Given the description of an element on the screen output the (x, y) to click on. 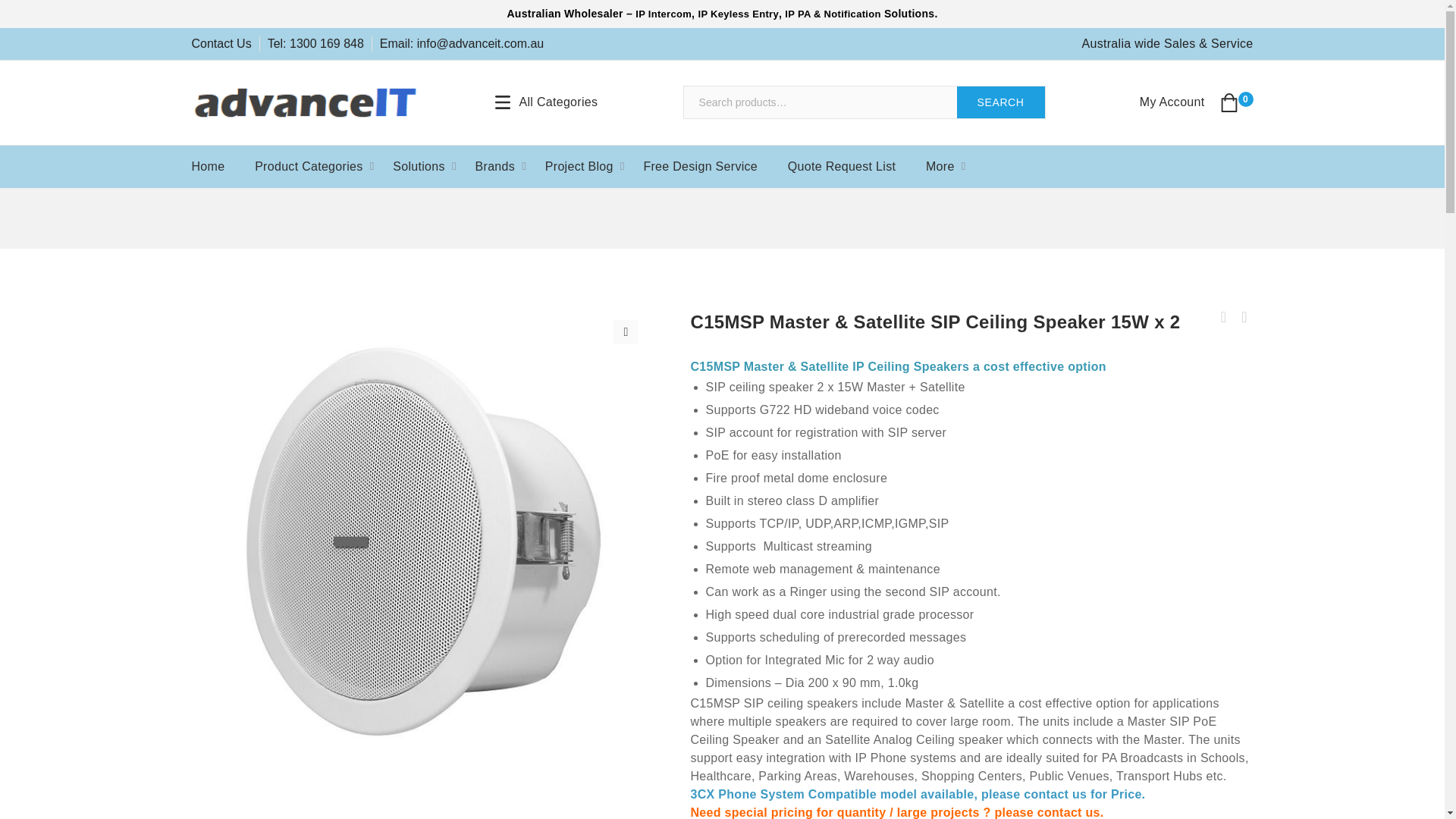
IP Intercom (662, 13)
advanceIT (304, 101)
Tel: 1300 169 848 (319, 43)
IP Keyless Entry (737, 13)
View your shopping cart (1236, 102)
Contact Us (224, 43)
